Given the description of an element on the screen output the (x, y) to click on. 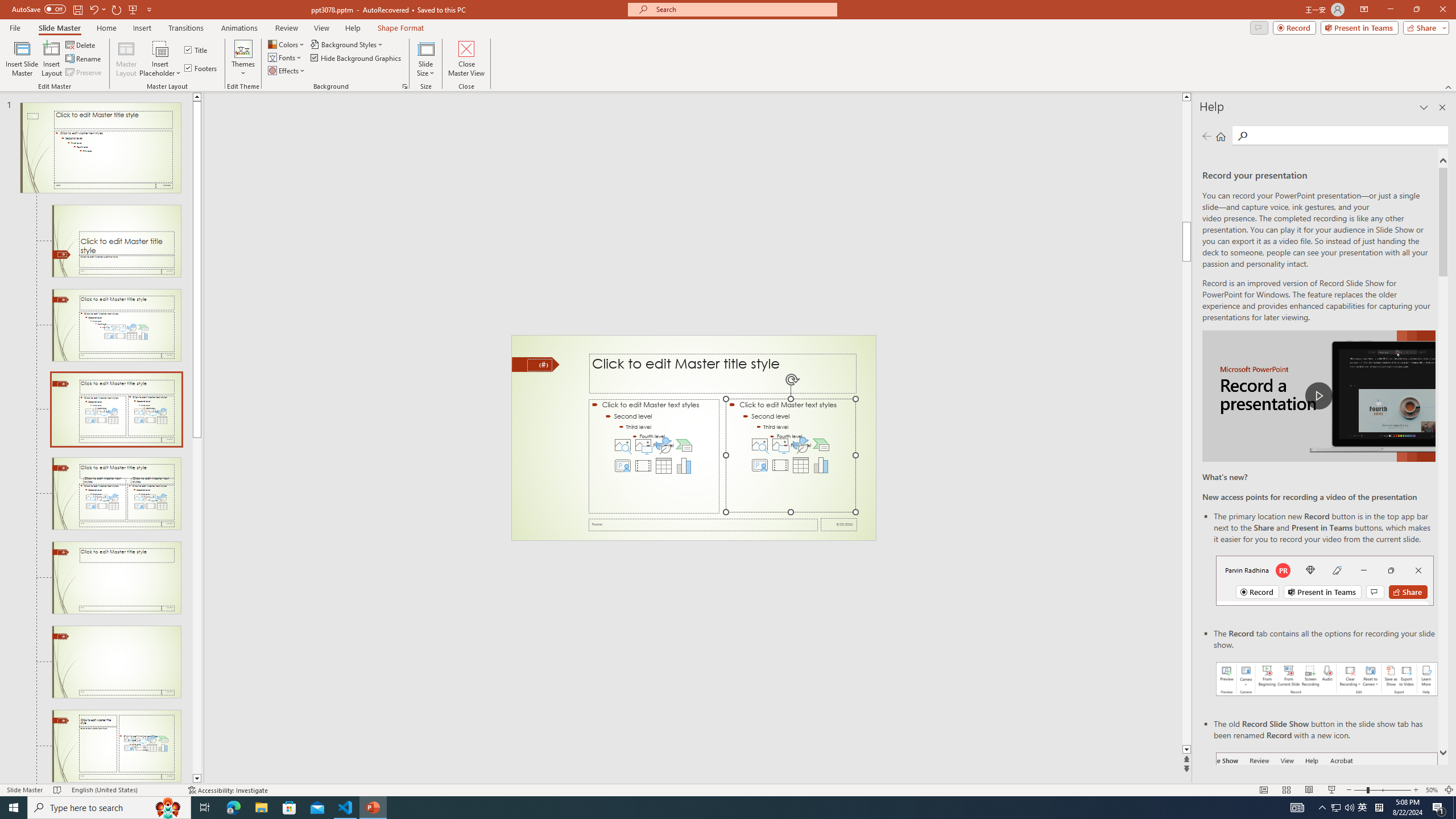
Freeform 11 (535, 364)
Slide Title Slide Layout: used by slide(s) 1 (116, 240)
Format Background... (404, 85)
